Given the description of an element on the screen output the (x, y) to click on. 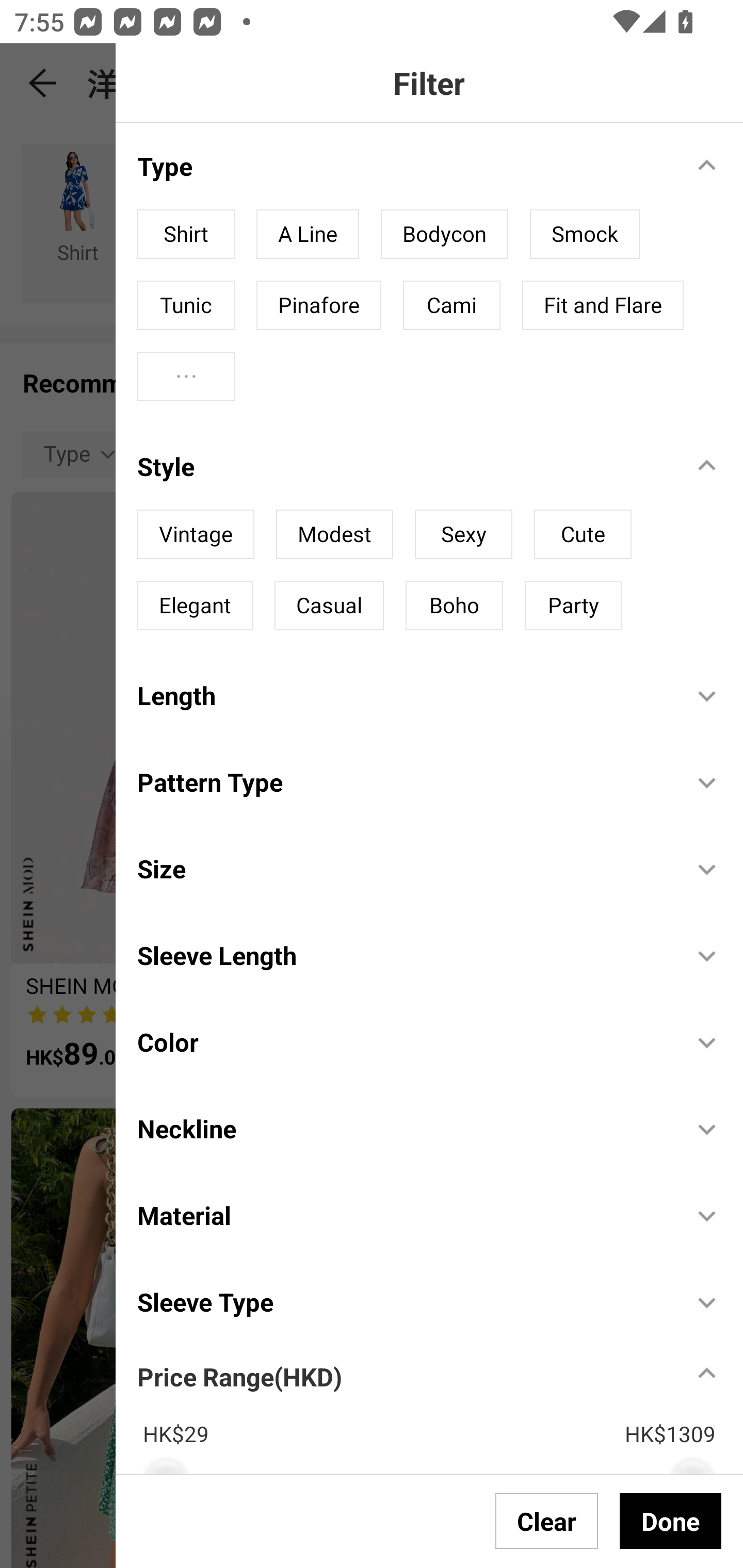
Type (403, 166)
Shirt (185, 234)
A Line (307, 234)
Bodycon (444, 234)
Smock (584, 234)
Tunic (185, 305)
Pinafore (318, 305)
Cami (451, 305)
Fit and Flare (602, 305)
Style (403, 466)
Vintage (195, 534)
Modest (334, 534)
Sexy (463, 534)
Cute (582, 534)
Elegant (194, 605)
Casual (329, 605)
Boho (454, 605)
Party (573, 605)
Length (403, 695)
Pattern Type (403, 781)
Size (403, 868)
Sleeve Length (403, 954)
Color (403, 1041)
Neckline (403, 1128)
Material (403, 1215)
Sleeve Type (403, 1301)
Price Range(HKD) (239, 1376)
Clear (546, 1520)
Done (670, 1520)
